Given the description of an element on the screen output the (x, y) to click on. 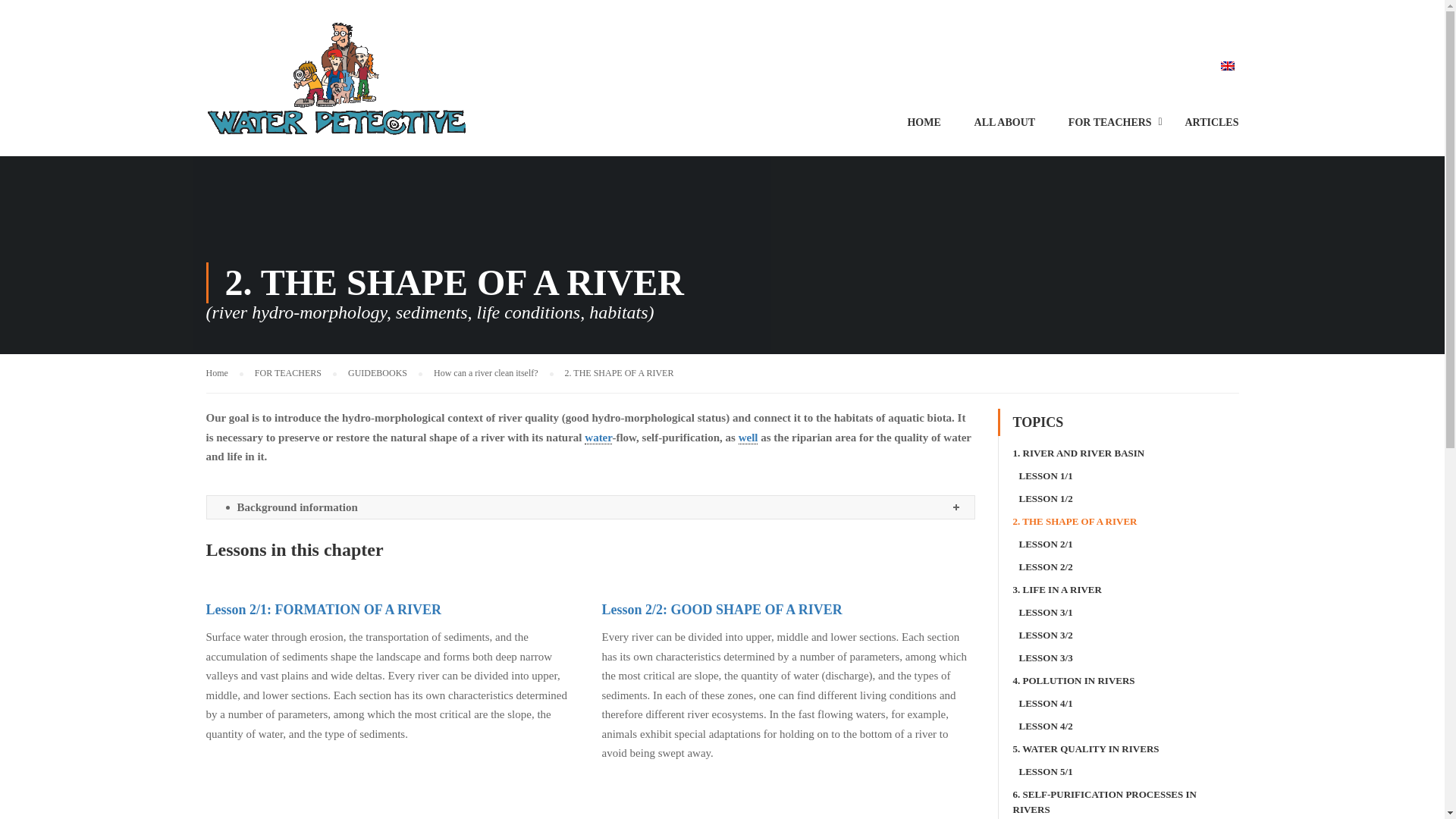
ARTICLES (1204, 129)
water (598, 436)
FOR TEACHERS (1109, 129)
2. THE SHAPE OF A RIVER (619, 371)
How can a river clean itself? (493, 373)
well (748, 436)
GUIDEBOOKS (384, 373)
HOME (923, 129)
FOR TEACHERS (295, 373)
How can a river clean itself? (493, 373)
Home (224, 373)
GUIDEBOOKS (384, 373)
ALL ABOUT (1005, 129)
English (1227, 65)
